Given the description of an element on the screen output the (x, y) to click on. 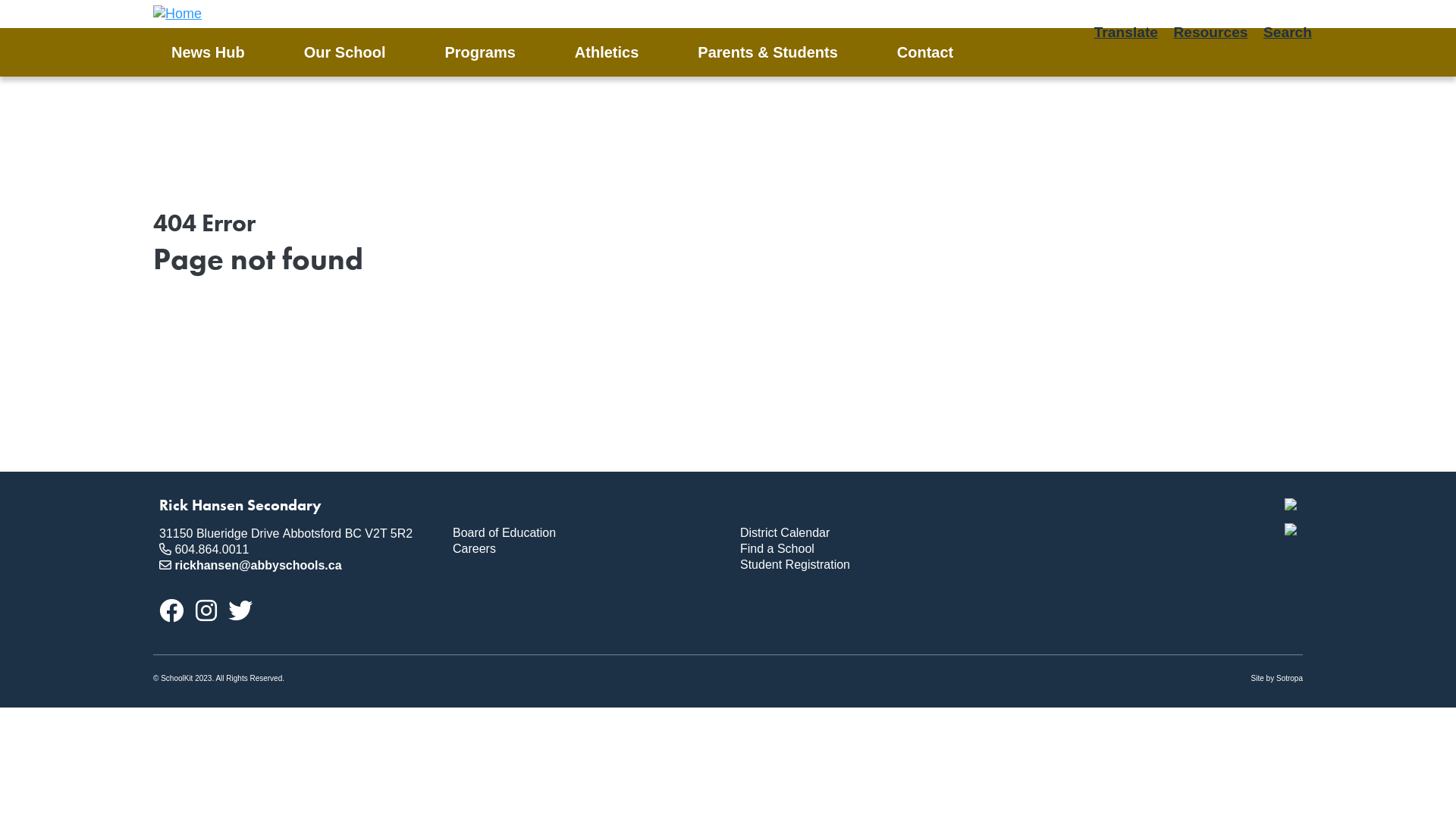
District Calendar Element type: text (871, 533)
Search Element type: text (1287, 32)
Student Registration Element type: text (871, 565)
604.864.0011 Element type: text (211, 548)
rickhansen@abbyschools.ca Element type: text (257, 564)
Resources Element type: text (1210, 32)
Careers Element type: text (583, 549)
Sotropa Element type: text (1289, 677)
Find a School Element type: text (871, 549)
Board of Education Element type: text (583, 533)
Athletics Element type: text (617, 52)
Home Element type: hover (177, 14)
Footer Element type: text (446, 495)
Skip to main content Element type: text (0, 0)
Footer Element type: text (734, 495)
Translate Element type: text (1125, 32)
